Given the description of an element on the screen output the (x, y) to click on. 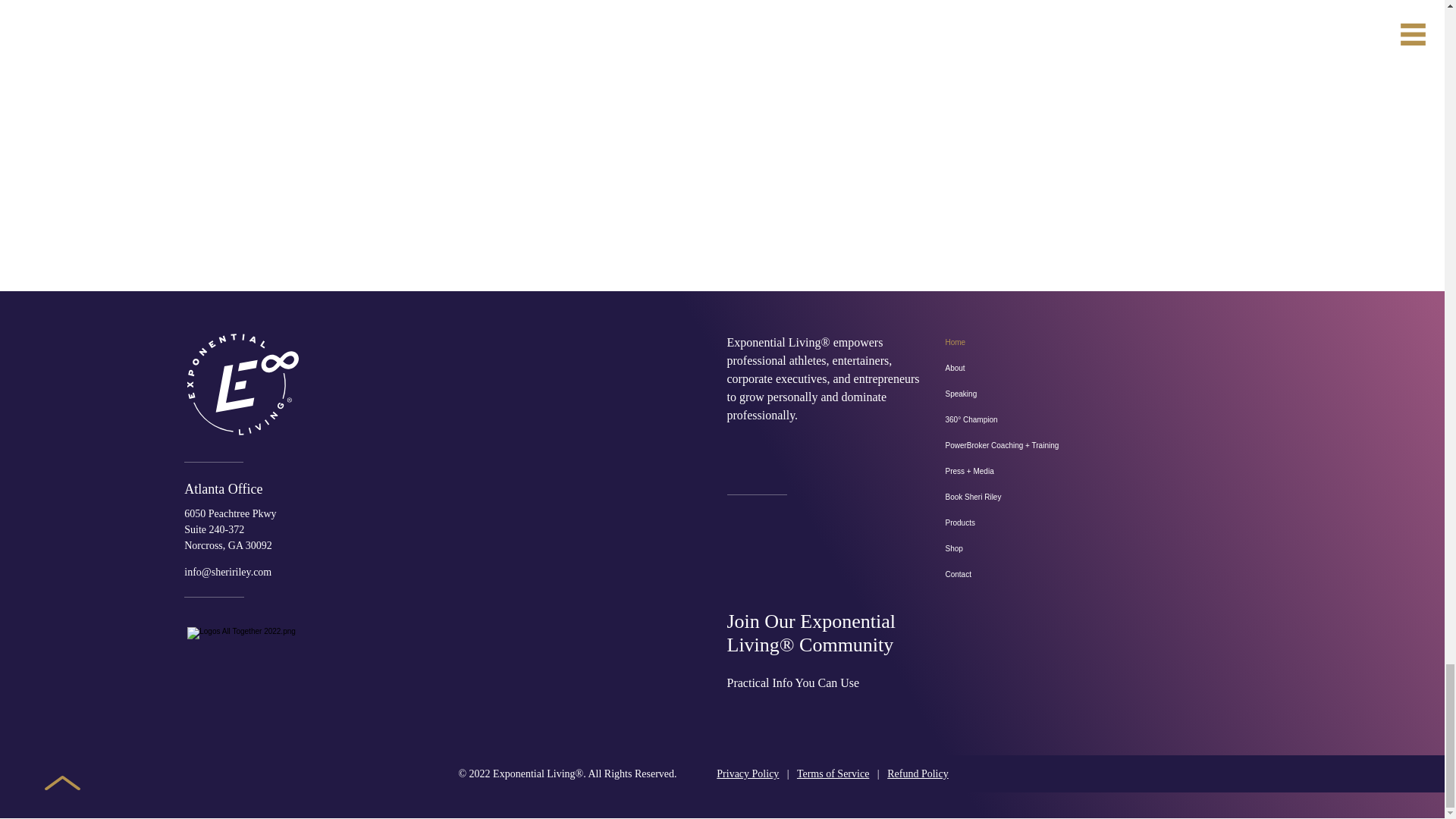
Terms of Service (832, 773)
Privacy Policy (747, 773)
About (1092, 368)
Speaking (1092, 394)
Contact (1092, 574)
Book Sheri Riley (1092, 497)
Home (1092, 342)
Products (1092, 523)
Shop (1092, 548)
Logos All Together.png (311, 685)
Refund Policy (917, 773)
